Given the description of an element on the screen output the (x, y) to click on. 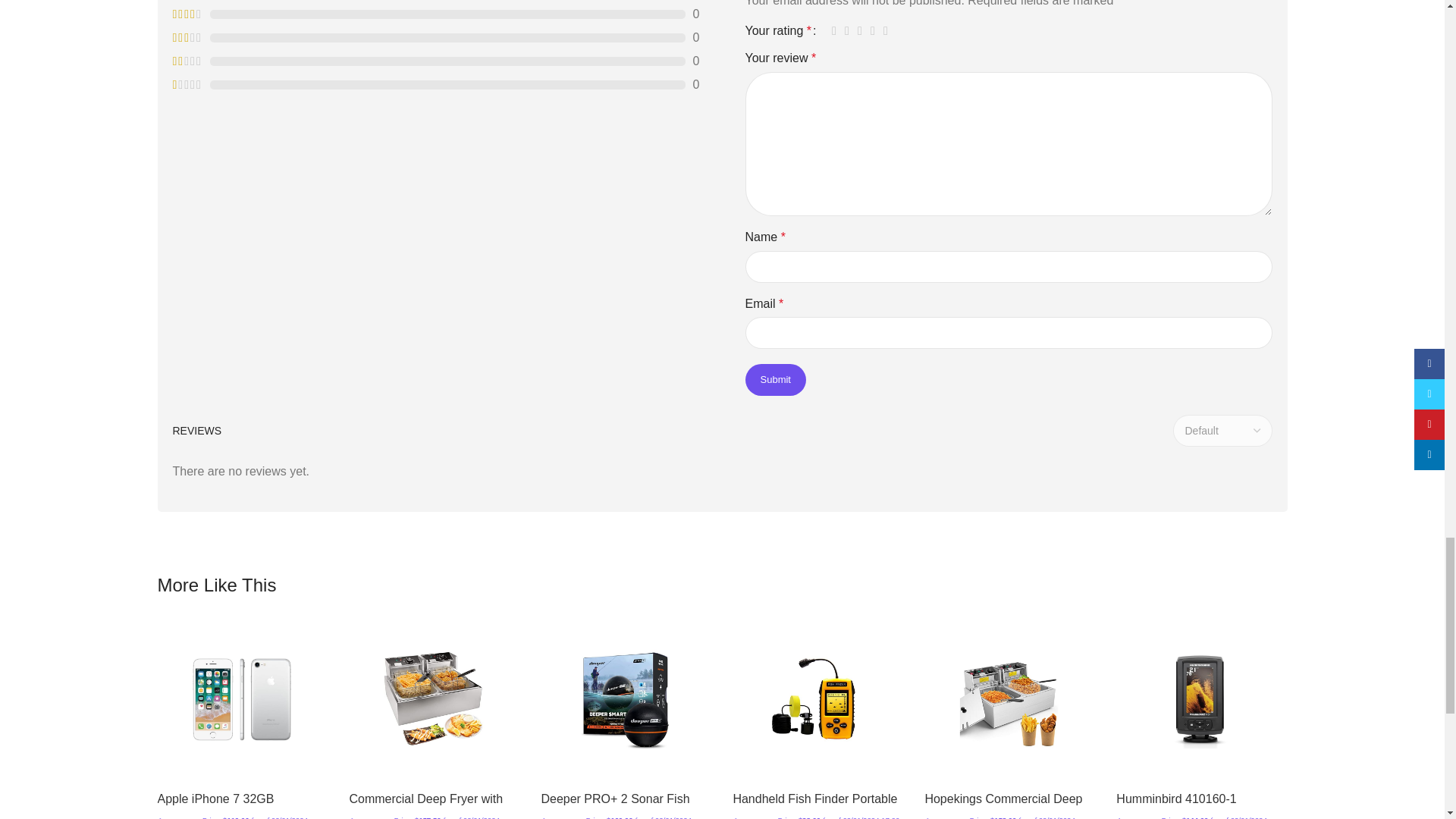
Submit (774, 379)
